Given the description of an element on the screen output the (x, y) to click on. 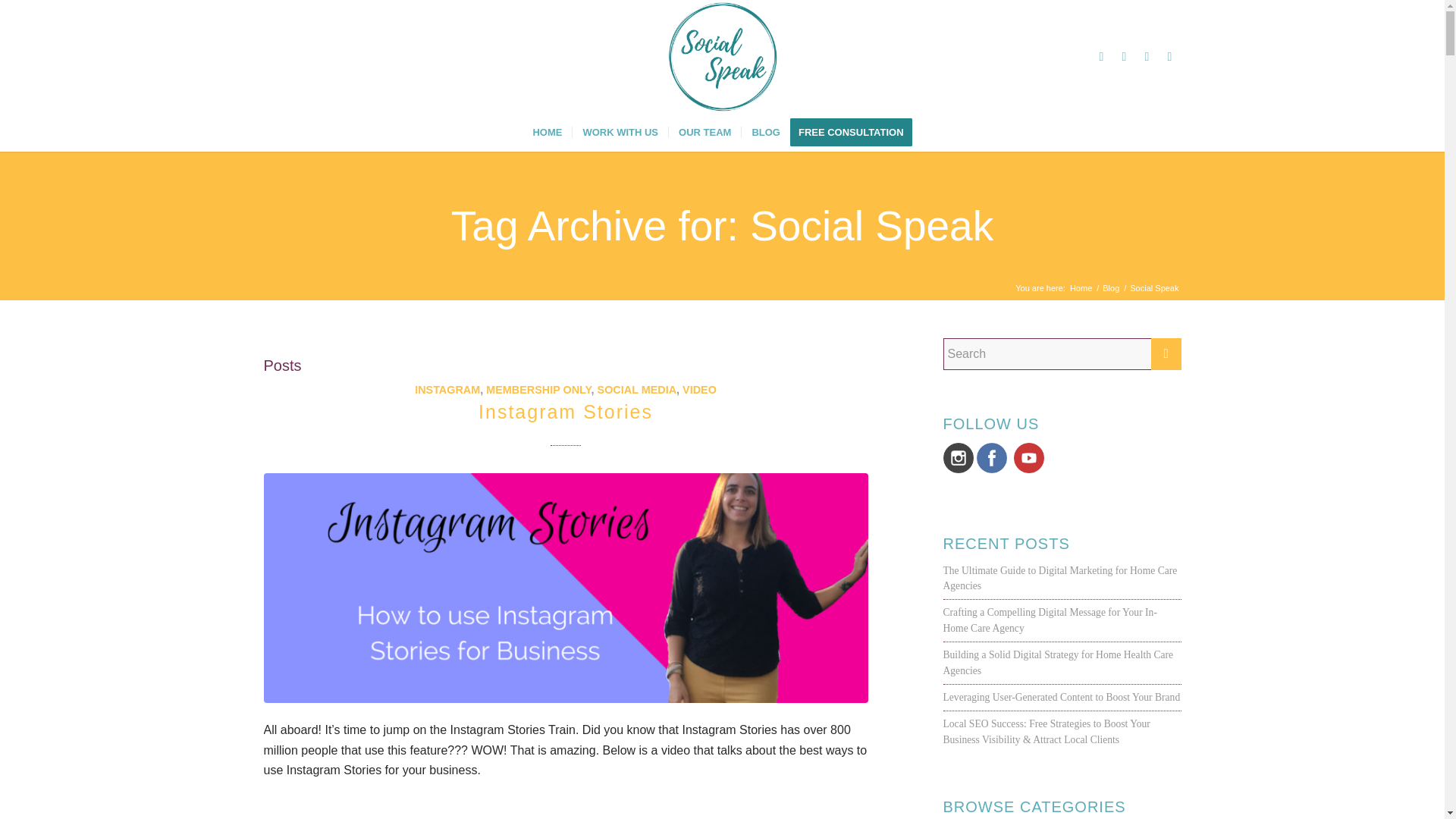
Instagram (1124, 56)
Youtube (1146, 56)
SOCIAL MEDIA (636, 389)
Instagram Stories (565, 411)
Blog (1110, 288)
Facebook (1101, 56)
Social Speak Network (1080, 288)
Home (1080, 288)
BLOG (765, 132)
INSTAGRAM (447, 389)
